Given the description of an element on the screen output the (x, y) to click on. 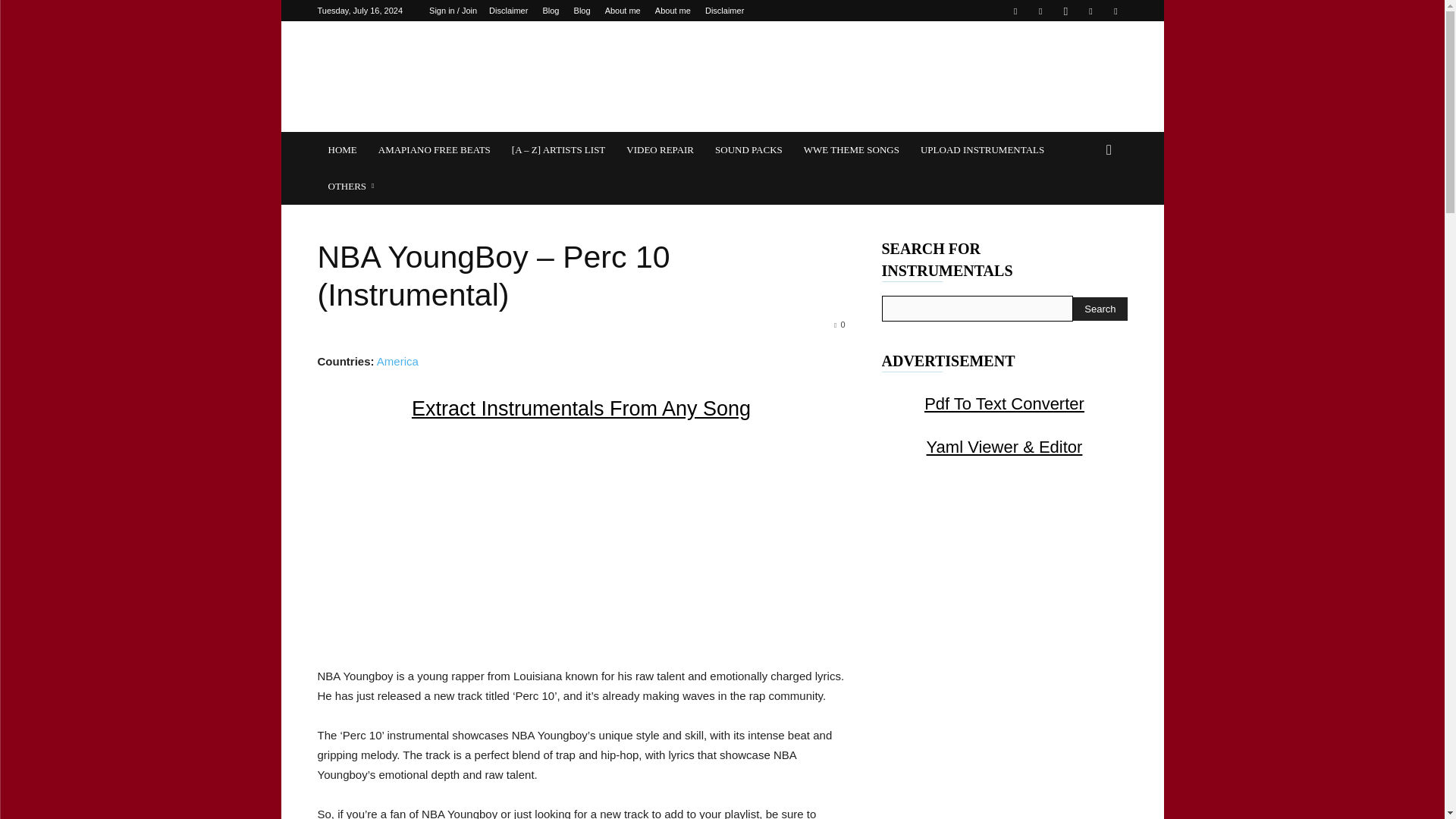
About me (622, 10)
Disclaimer (724, 10)
Twitter (1090, 10)
Disclaimer (508, 10)
Search (1099, 309)
Youtube (1114, 10)
Blog (582, 10)
Advertisement (850, 76)
Blog (550, 10)
Instagram (1065, 10)
Advertisement (579, 544)
Facebook (1015, 10)
About me (672, 10)
